Given the description of an element on the screen output the (x, y) to click on. 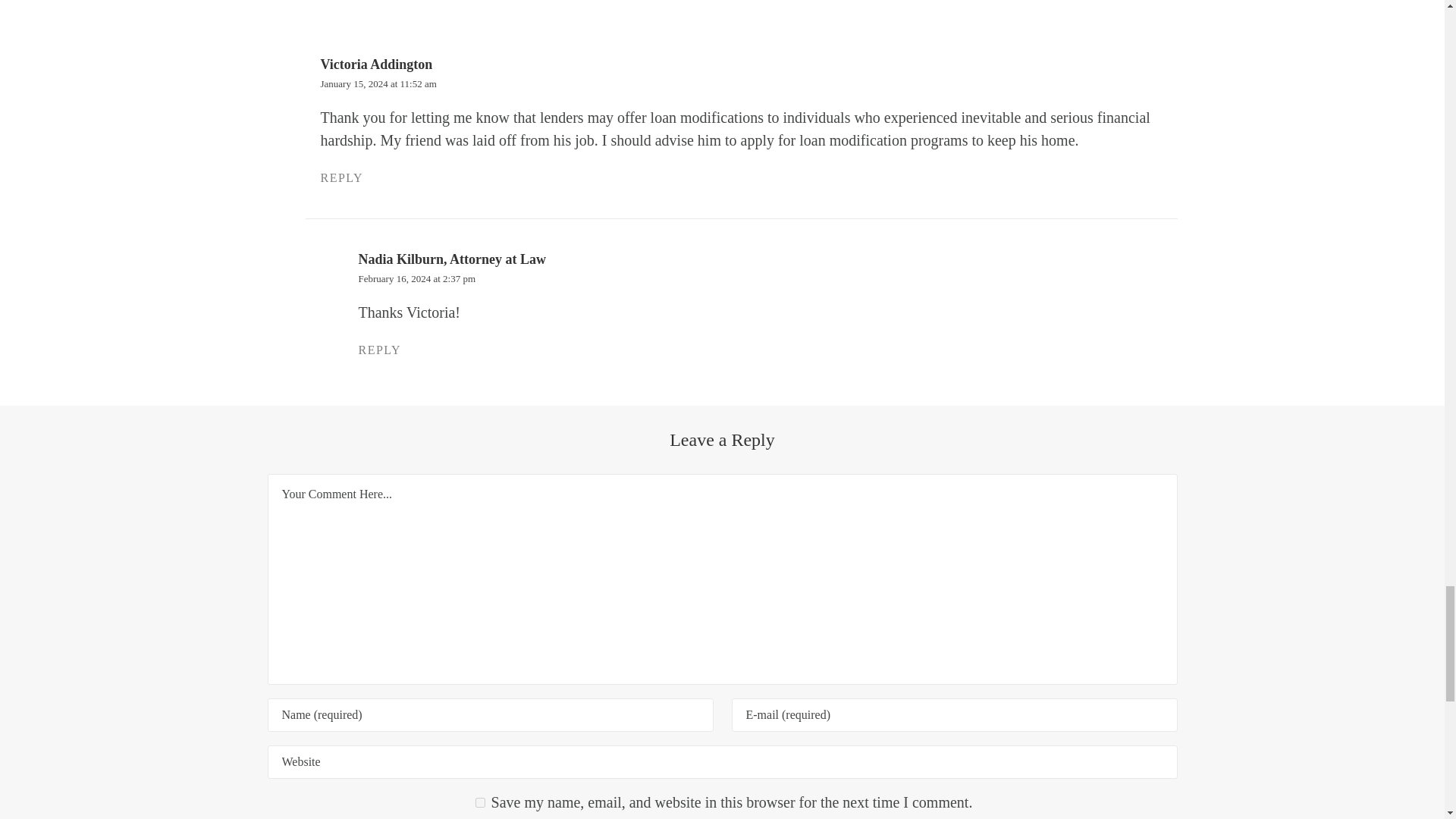
yes (480, 802)
